Given the description of an element on the screen output the (x, y) to click on. 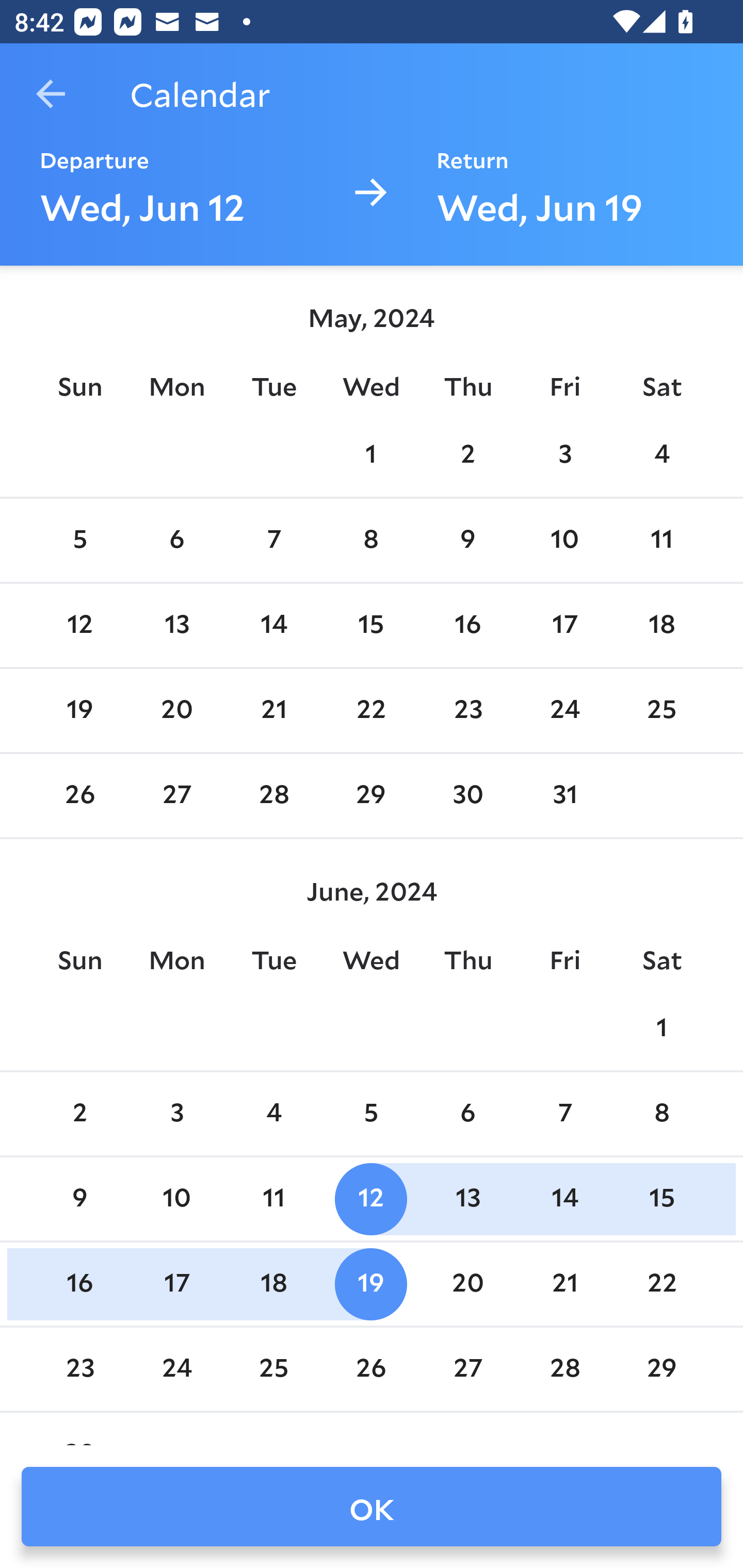
Navigate up (50, 93)
1 (371, 454)
2 (467, 454)
3 (565, 454)
4 (661, 454)
5 (79, 540)
6 (177, 540)
7 (273, 540)
8 (371, 540)
9 (467, 540)
10 (565, 540)
11 (661, 540)
12 (79, 625)
13 (177, 625)
14 (273, 625)
15 (371, 625)
16 (467, 625)
17 (565, 625)
18 (661, 625)
19 (79, 710)
20 (177, 710)
21 (273, 710)
22 (371, 710)
23 (467, 710)
24 (565, 710)
25 (661, 710)
26 (79, 796)
27 (177, 796)
28 (273, 796)
29 (371, 796)
30 (467, 796)
31 (565, 796)
1 (661, 1028)
2 (79, 1114)
3 (177, 1114)
4 (273, 1114)
5 (371, 1114)
6 (467, 1114)
7 (565, 1114)
8 (661, 1114)
9 (79, 1199)
10 (177, 1199)
11 (273, 1199)
12 (371, 1199)
13 (467, 1199)
14 (565, 1199)
15 (661, 1199)
16 (79, 1284)
17 (177, 1284)
18 (273, 1284)
19 (371, 1284)
20 (467, 1284)
21 (565, 1284)
22 (661, 1284)
23 (79, 1368)
24 (177, 1368)
25 (273, 1368)
26 (371, 1368)
27 (467, 1368)
28 (565, 1368)
29 (661, 1368)
OK (371, 1506)
